Given the description of an element on the screen output the (x, y) to click on. 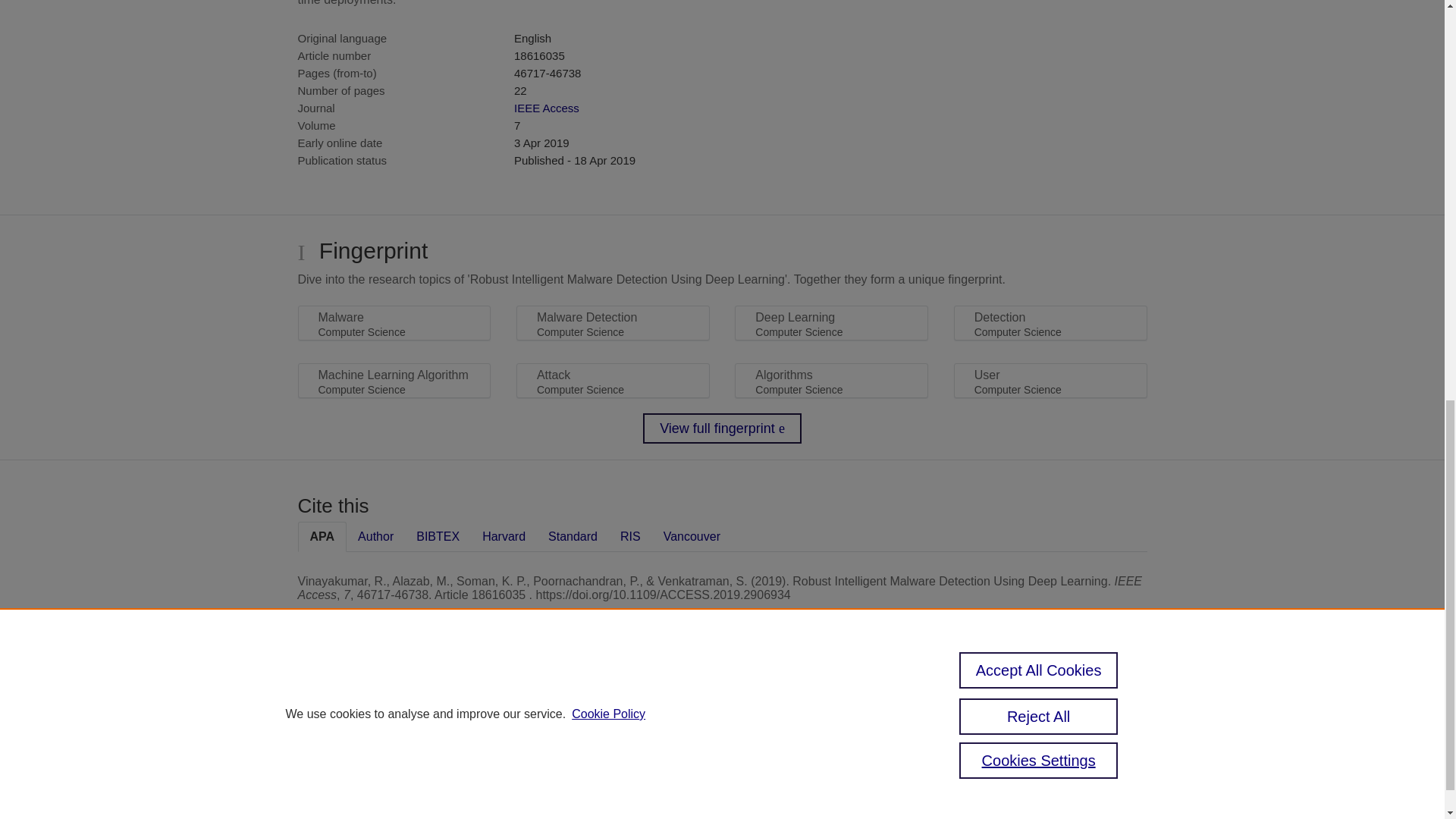
Scopus (633, 700)
Cookies Settings (574, 797)
Elsevier B.V. (745, 721)
IEEE Access (546, 107)
use of cookies (595, 776)
Log in to Pure (567, 815)
Pure (602, 700)
Report vulnerability (1033, 738)
View full fingerprint (722, 428)
About web accessibility (1033, 706)
